Given the description of an element on the screen output the (x, y) to click on. 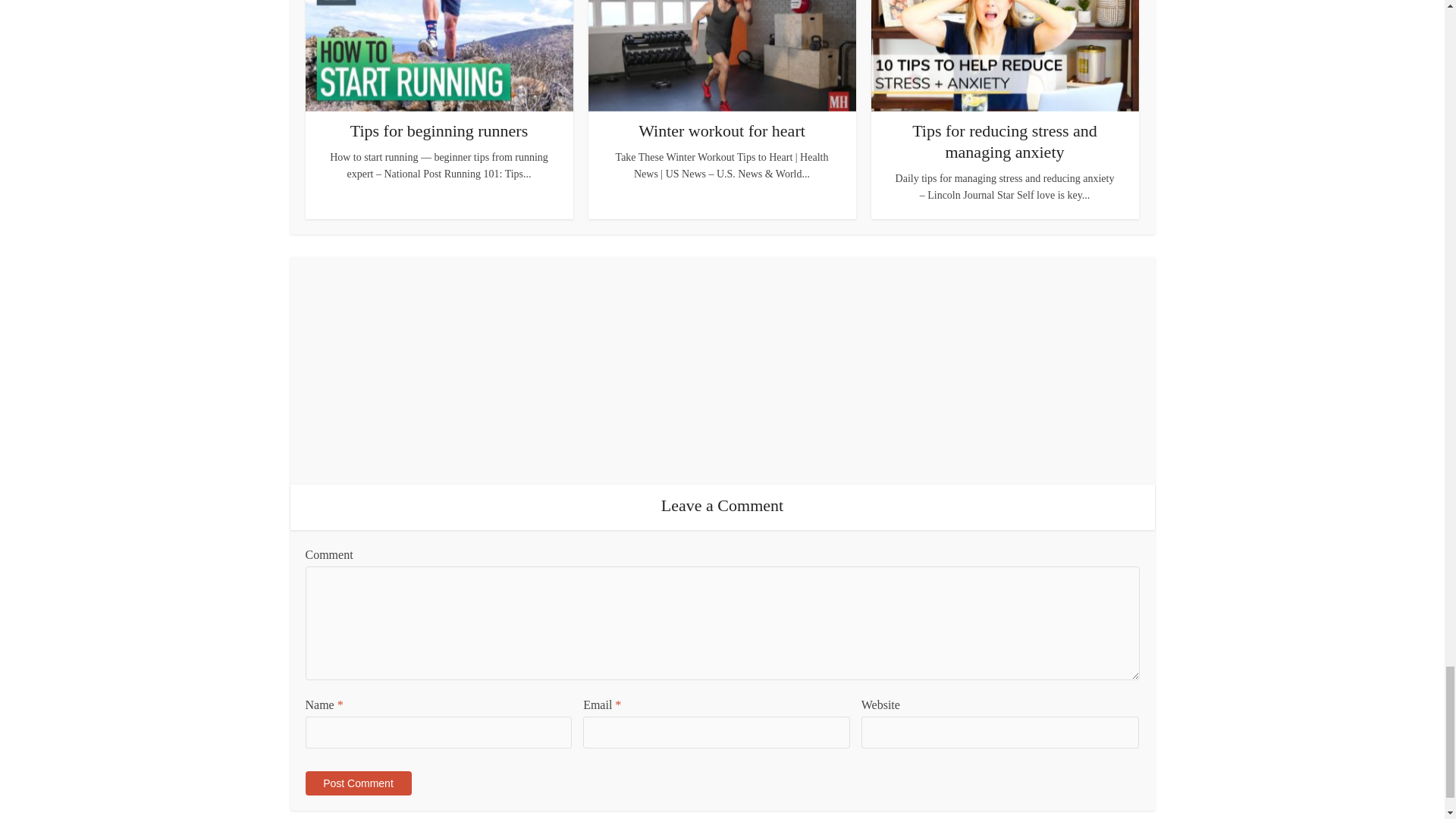
Tips for beginning runners (438, 130)
Post Comment (357, 782)
Post Comment (357, 782)
Tips for reducing stress and managing anxiety (1004, 141)
Winter workout for heart (722, 130)
Winter workout for heart (722, 130)
Tips for reducing stress and managing anxiety (1004, 141)
Tips for beginning runners (438, 130)
